Given the description of an element on the screen output the (x, y) to click on. 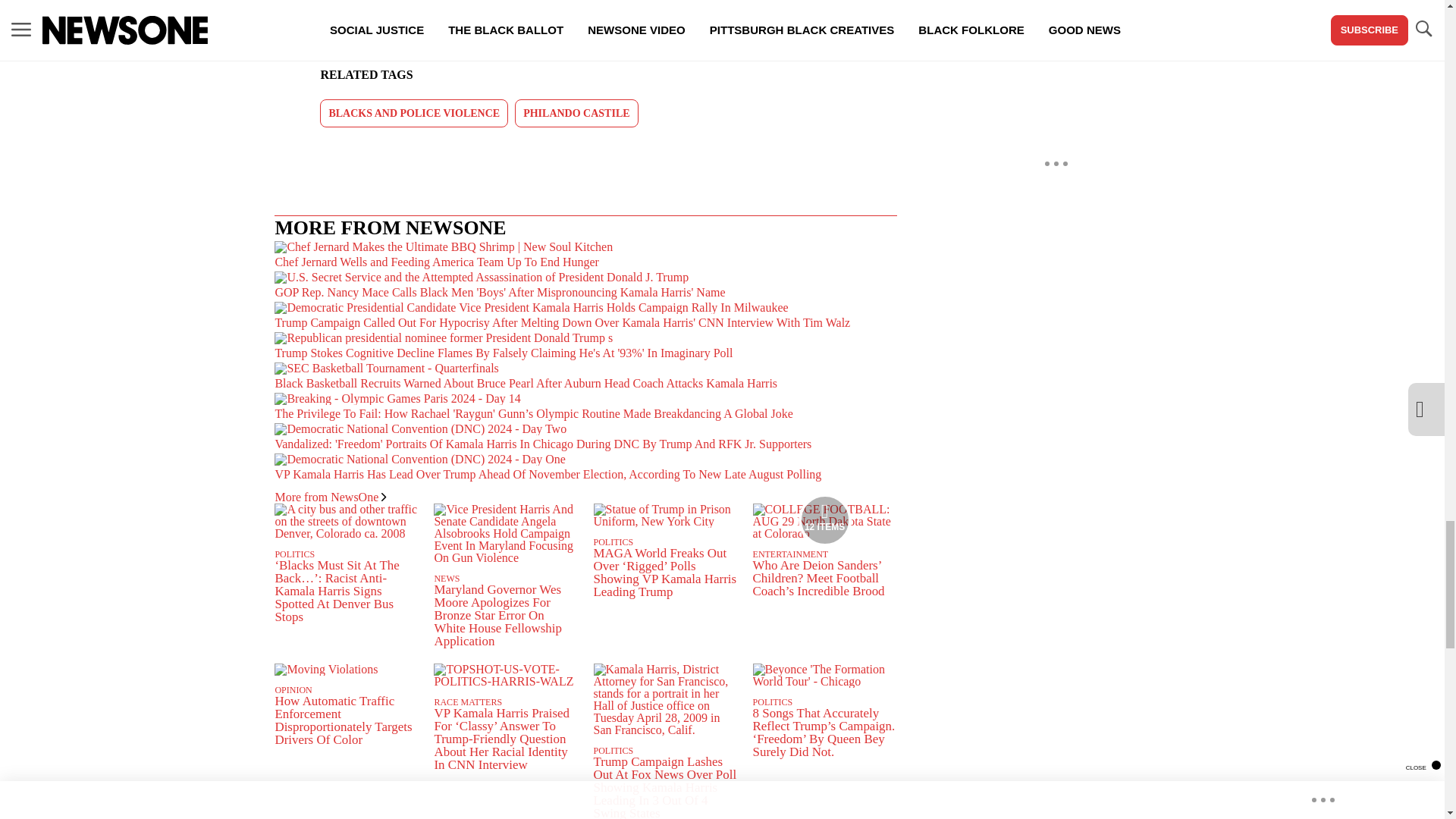
BLACKS AND POLICE VIOLENCE (414, 113)
Media Playlist (824, 520)
PHILANDO CASTILE (576, 113)
Chef Jernard Wells and Feeding America Team Up To End Hunger (607, 23)
